Given the description of an element on the screen output the (x, y) to click on. 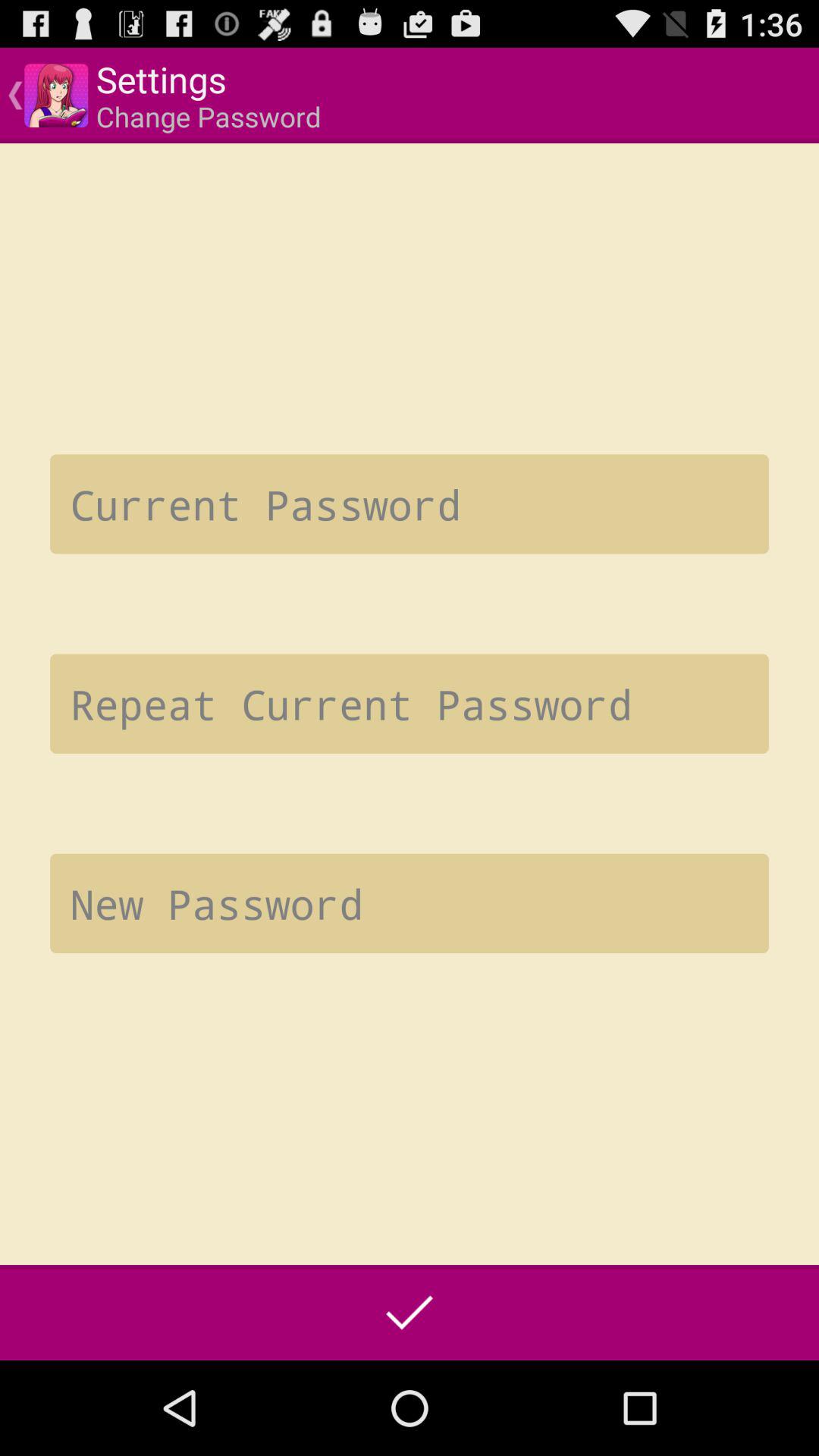
enter new password (409, 903)
